Given the description of an element on the screen output the (x, y) to click on. 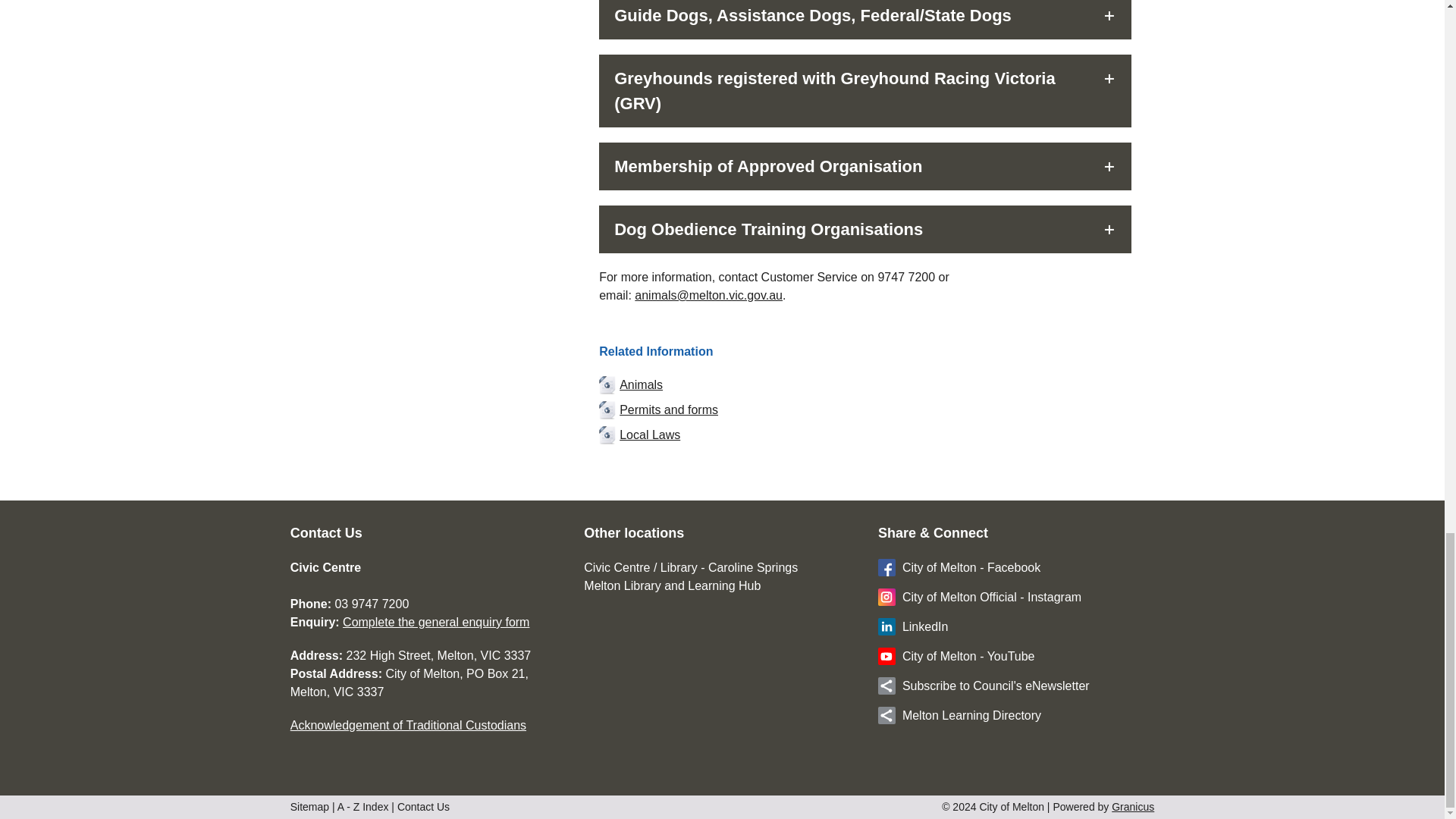
Animals (864, 384)
Permits and forms (864, 410)
Local Laws (864, 434)
